Given the description of an element on the screen output the (x, y) to click on. 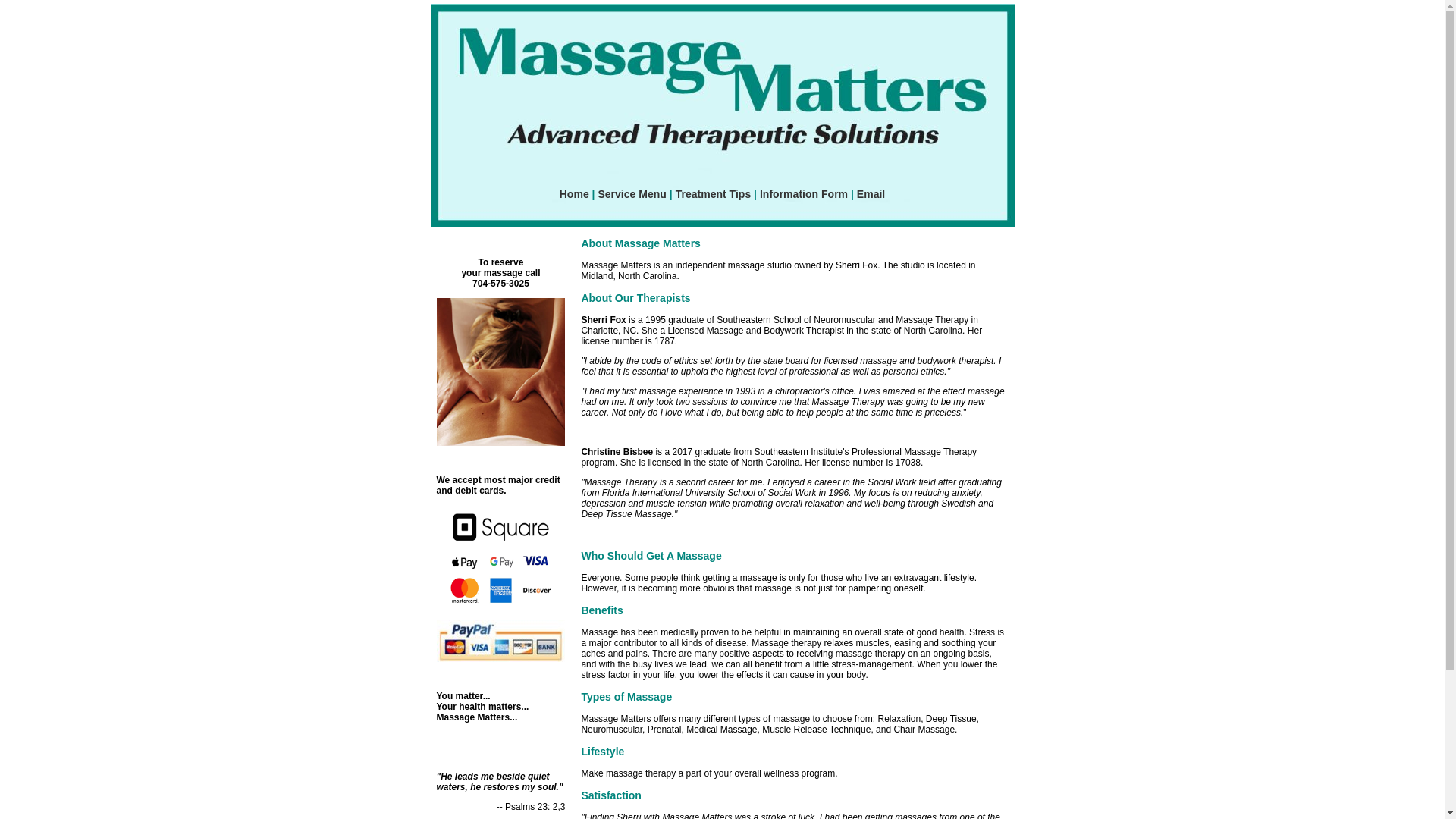
Service Menu (630, 193)
Treatment Tips (713, 193)
Email (871, 193)
Home (574, 193)
Information Form (803, 193)
